Given the description of an element on the screen output the (x, y) to click on. 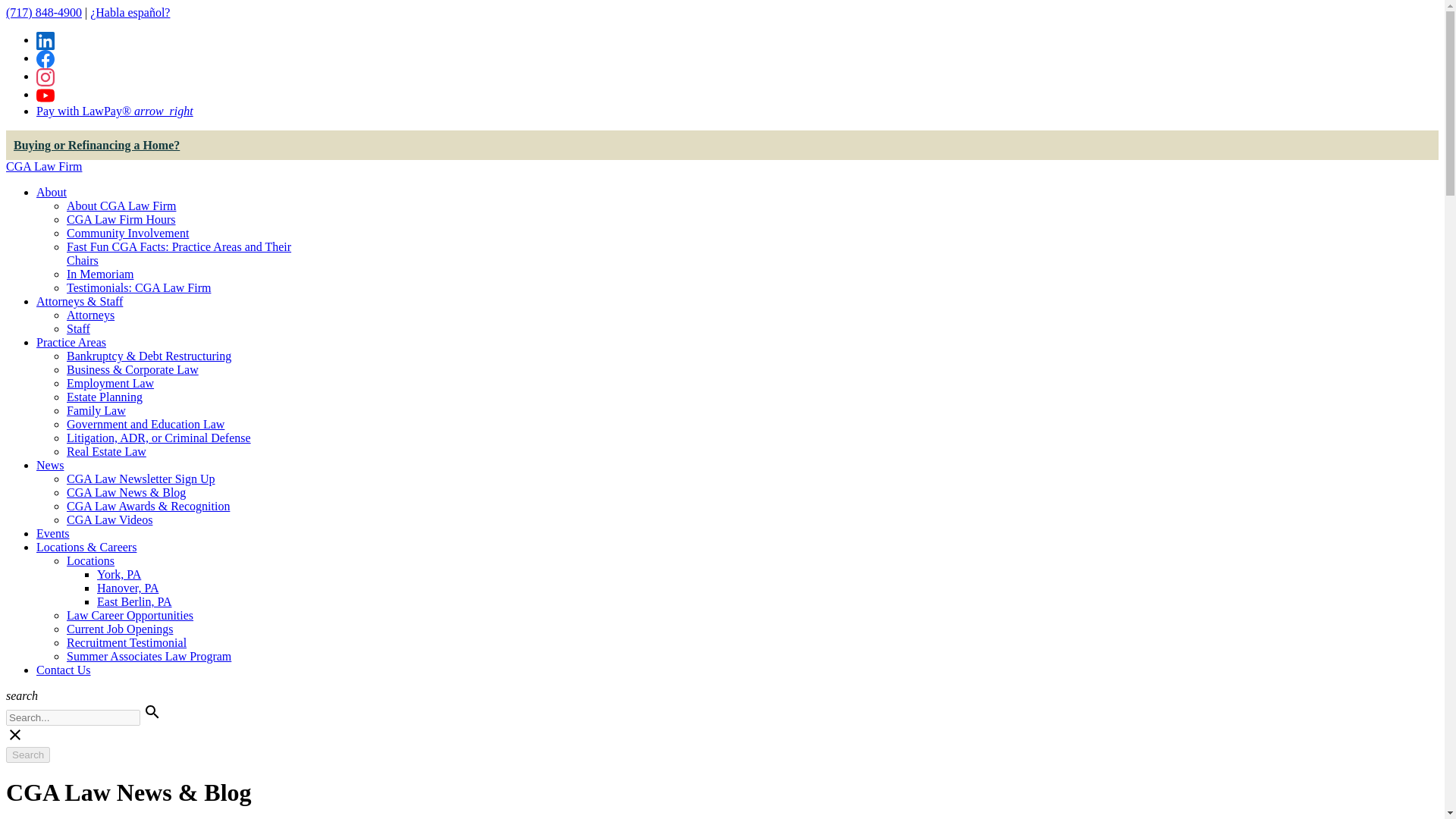
YouTube (45, 93)
About (51, 192)
YouTube (45, 95)
Search (27, 754)
Government and Education Law (145, 423)
CGA Law Firm (43, 165)
CGA Law Firm (43, 165)
Community Involvement (127, 232)
News (50, 464)
Staff (78, 328)
